Given the description of an element on the screen output the (x, y) to click on. 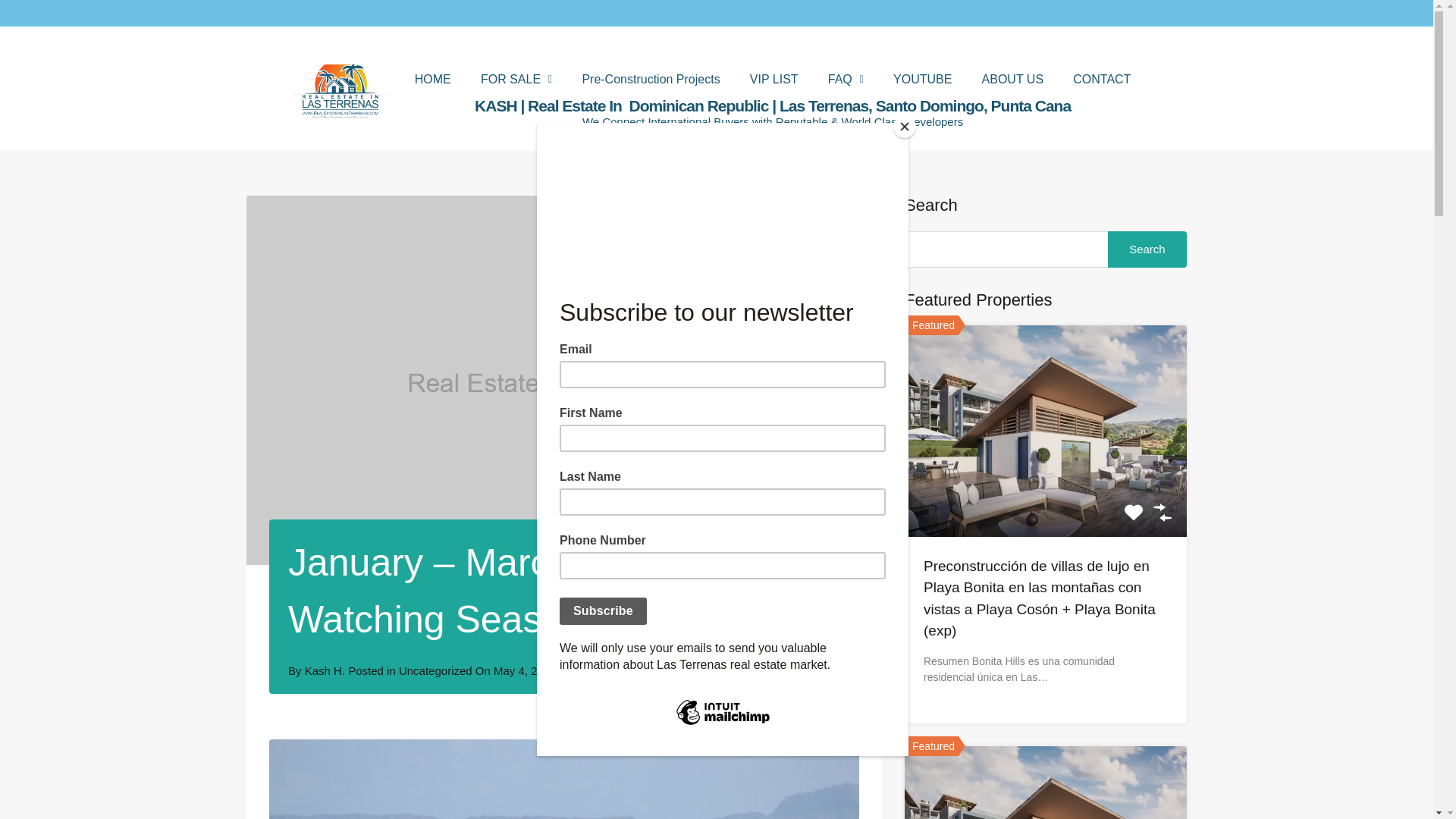
las-terrenas-logo (340, 90)
Search (1147, 248)
FOR SALE (515, 79)
HOME (431, 79)
